Given the description of an element on the screen output the (x, y) to click on. 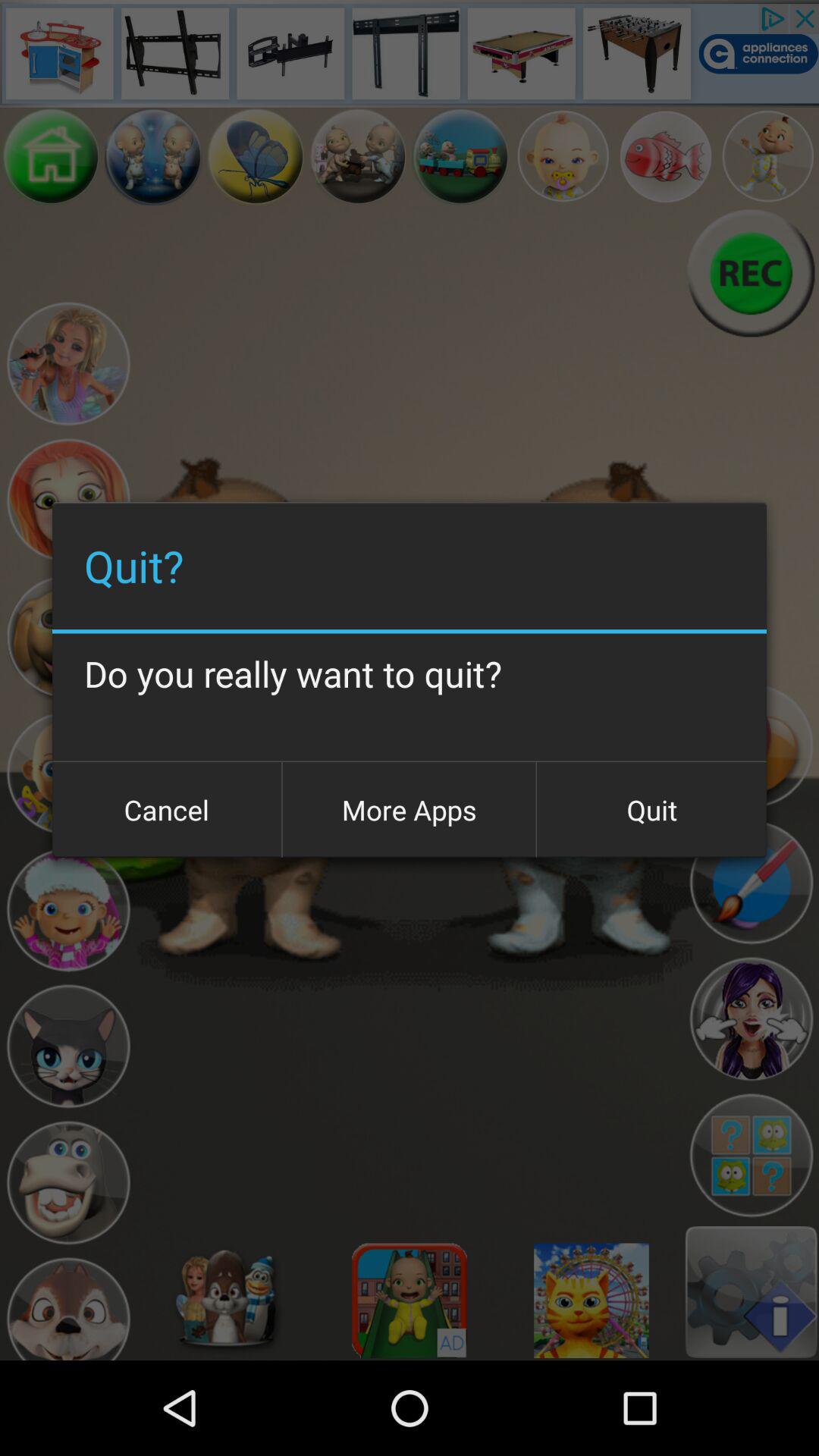
select baby (562, 156)
